Given the description of an element on the screen output the (x, y) to click on. 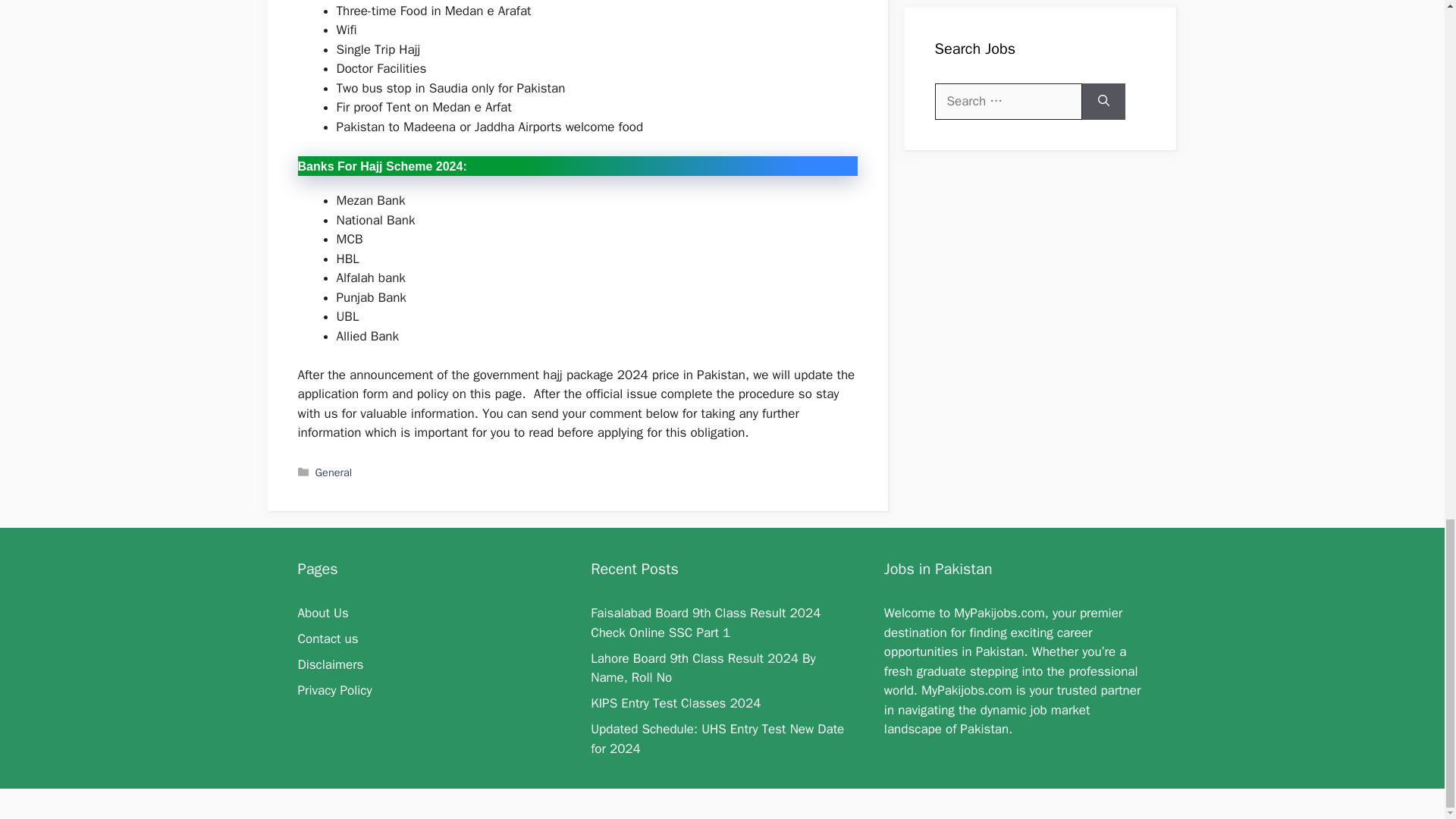
Disclaimers (329, 664)
KIPS Entry Test Classes 2024 (675, 703)
Updated Schedule: UHS Entry Test New Date for 2024 (717, 738)
General (333, 472)
About Us (322, 612)
Contact us (327, 638)
Lahore Board 9th Class Result 2024 By Name, Roll No (703, 668)
Privacy Policy (334, 690)
